Given the description of an element on the screen output the (x, y) to click on. 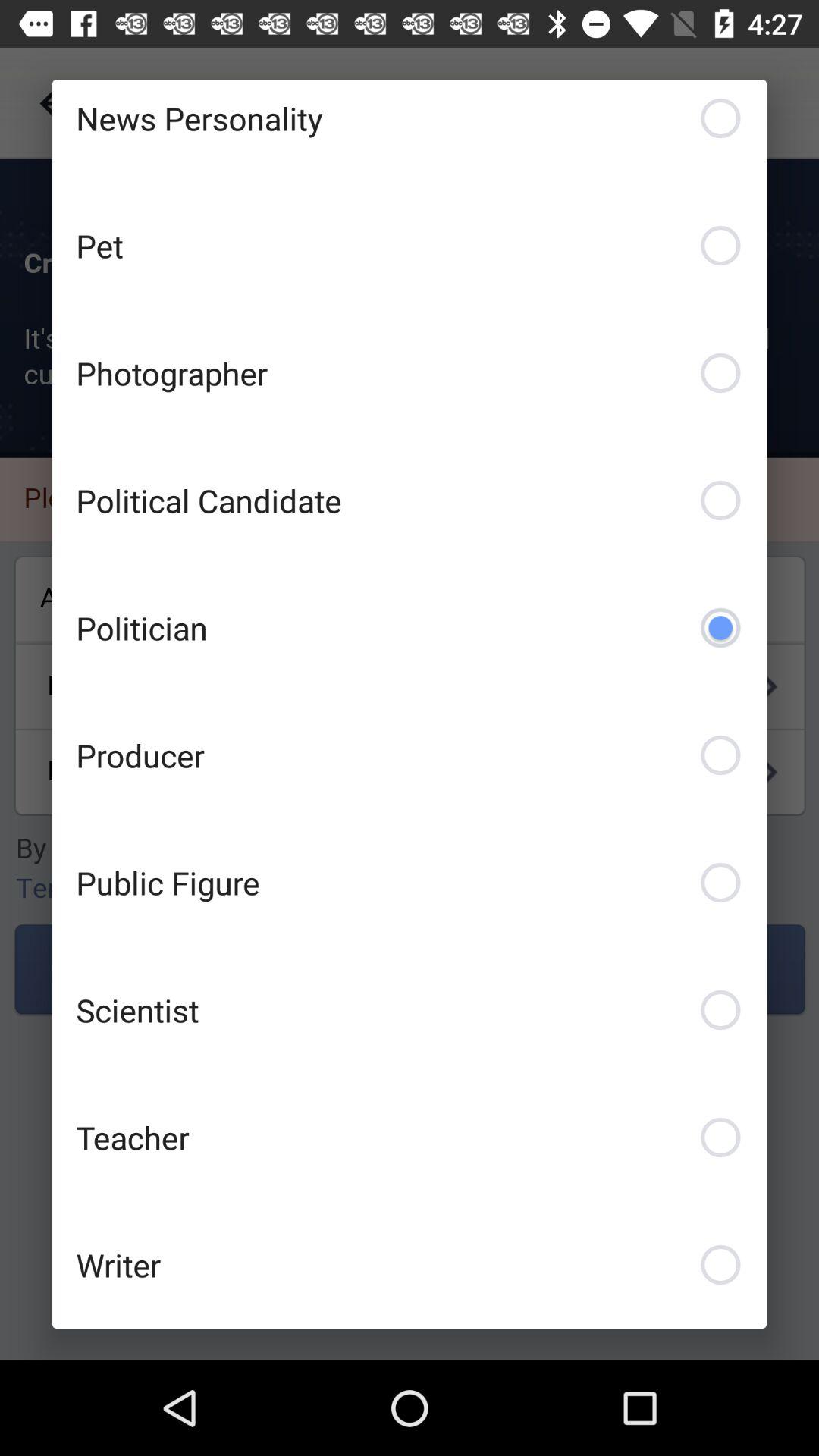
jump until the producer icon (409, 755)
